Given the description of an element on the screen output the (x, y) to click on. 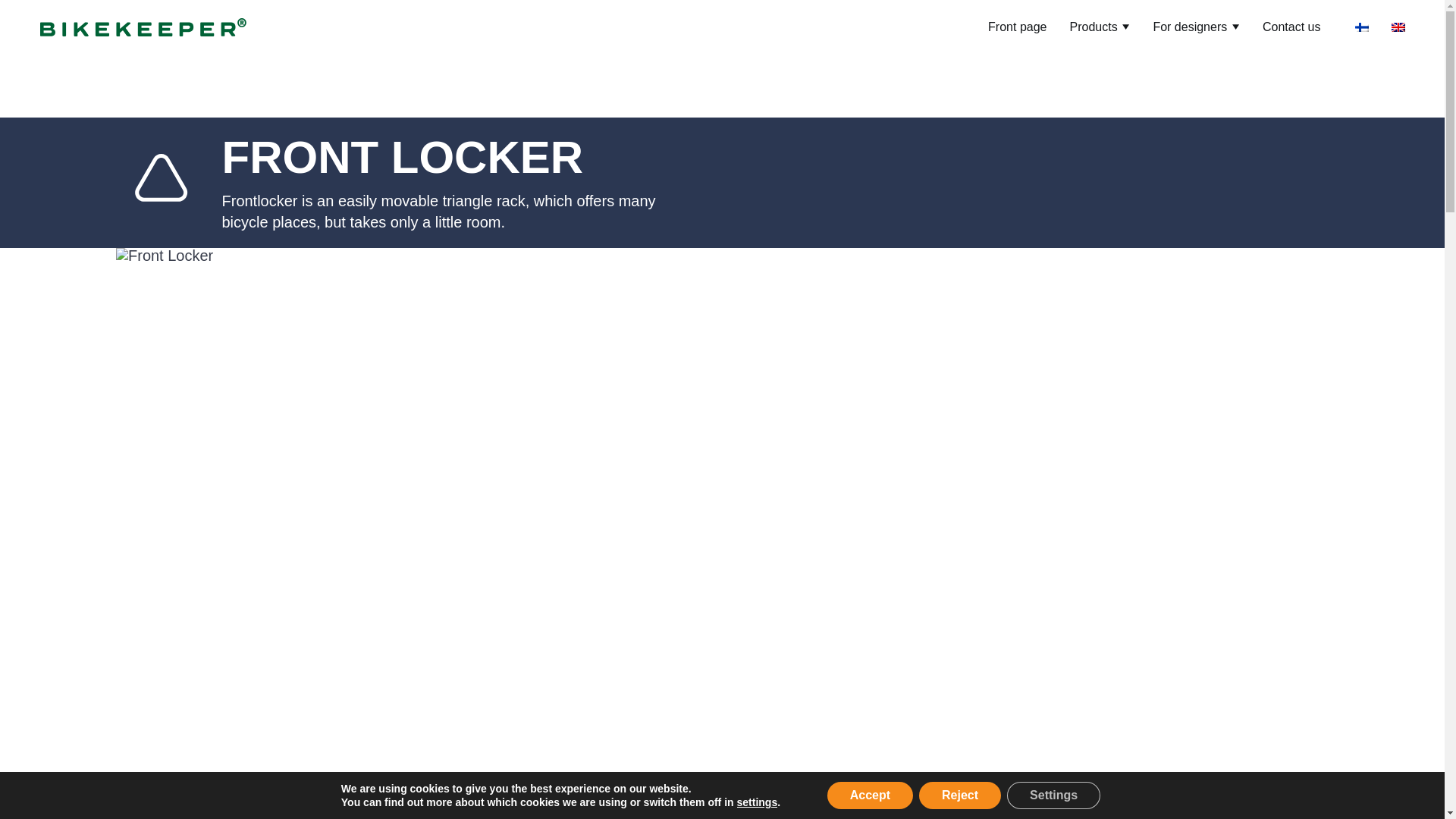
Contact us (1291, 27)
For designers (1195, 27)
Products (1099, 27)
Front page (1017, 27)
